Given the description of an element on the screen output the (x, y) to click on. 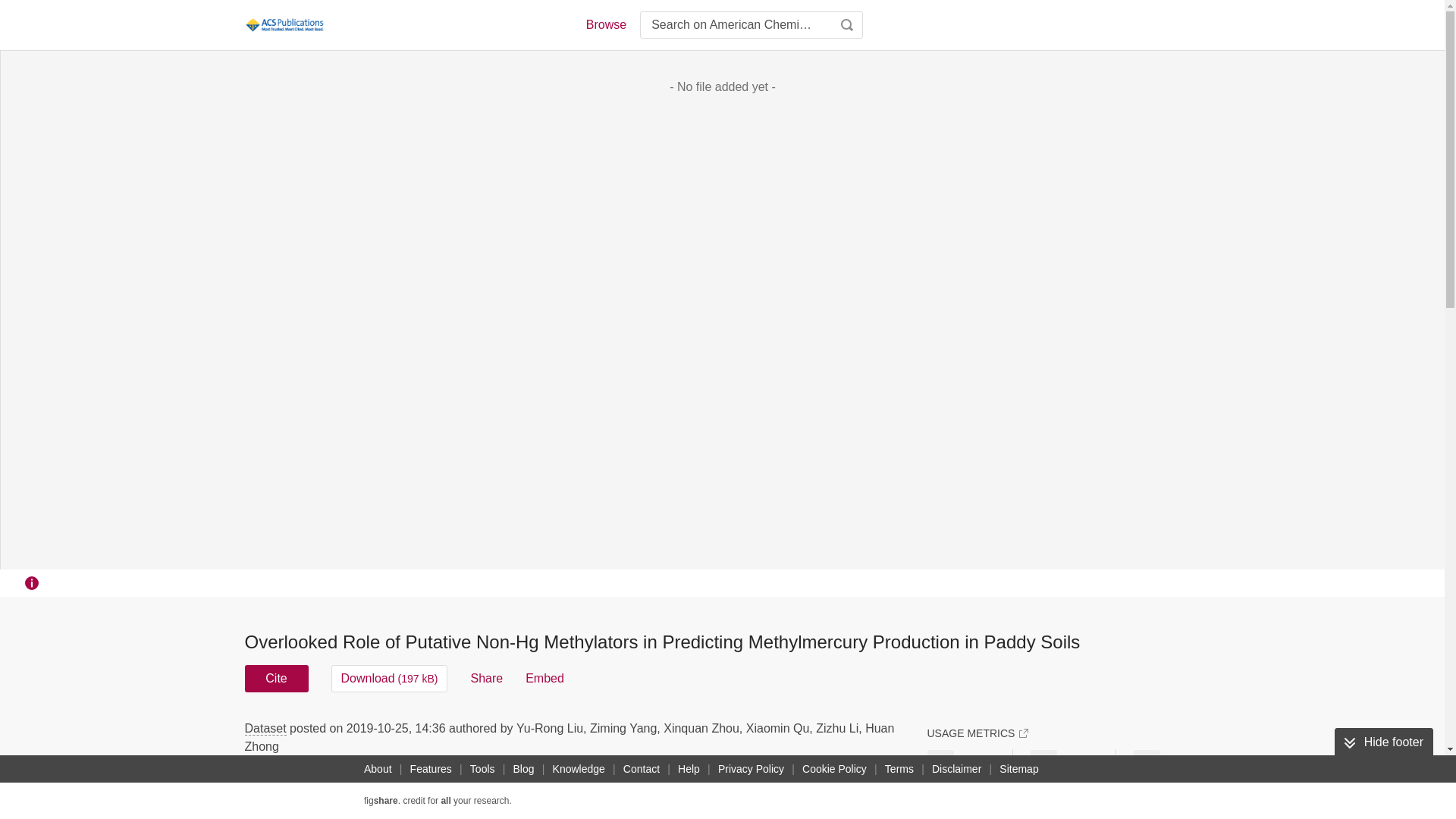
Share (486, 678)
USAGE METRICS (976, 732)
Embed (544, 678)
Browse (605, 24)
Cite (275, 678)
